Given the description of an element on the screen output the (x, y) to click on. 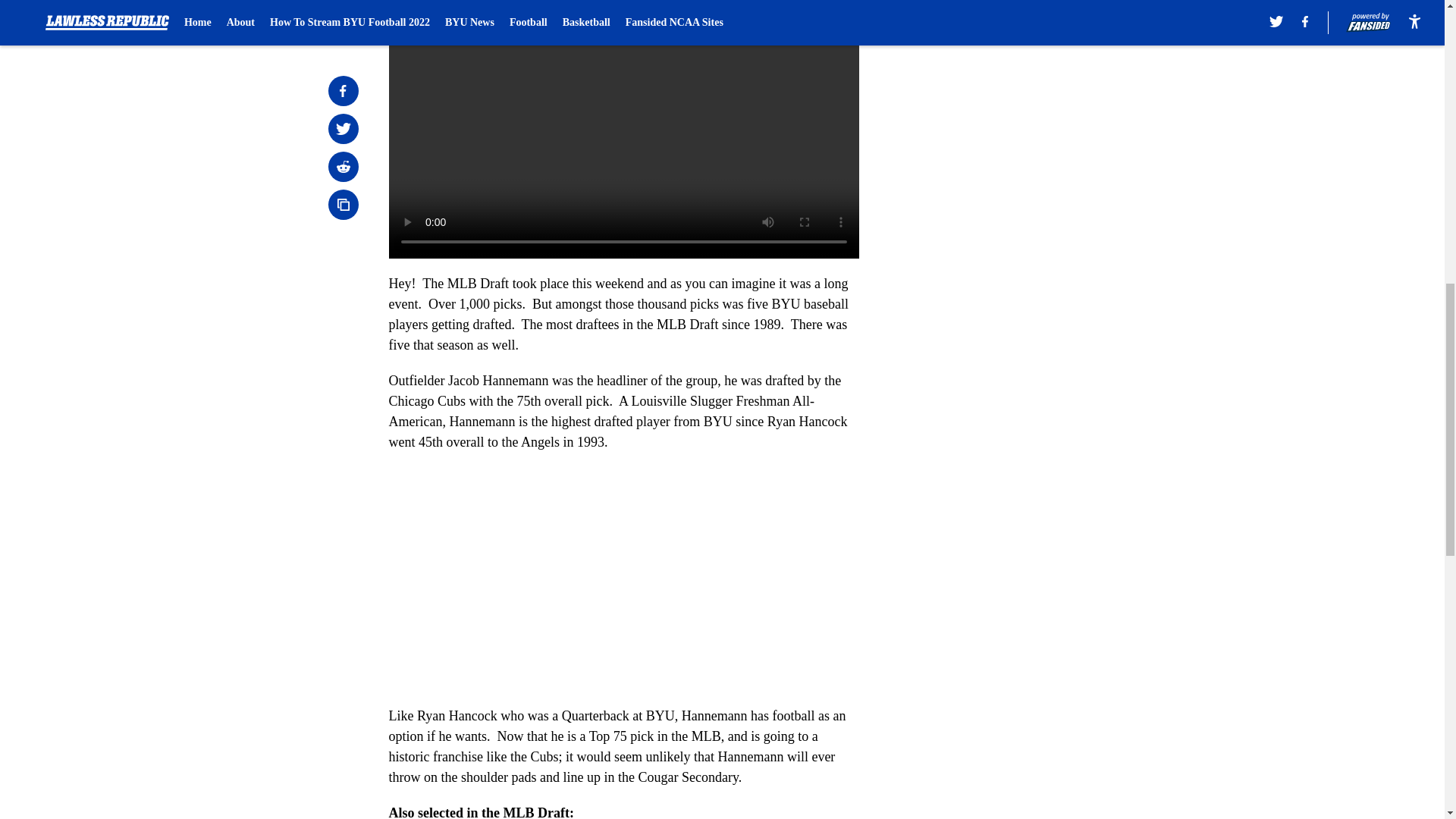
3rd party ad content (1047, 91)
3rd party ad content (1047, 308)
